Given the description of an element on the screen output the (x, y) to click on. 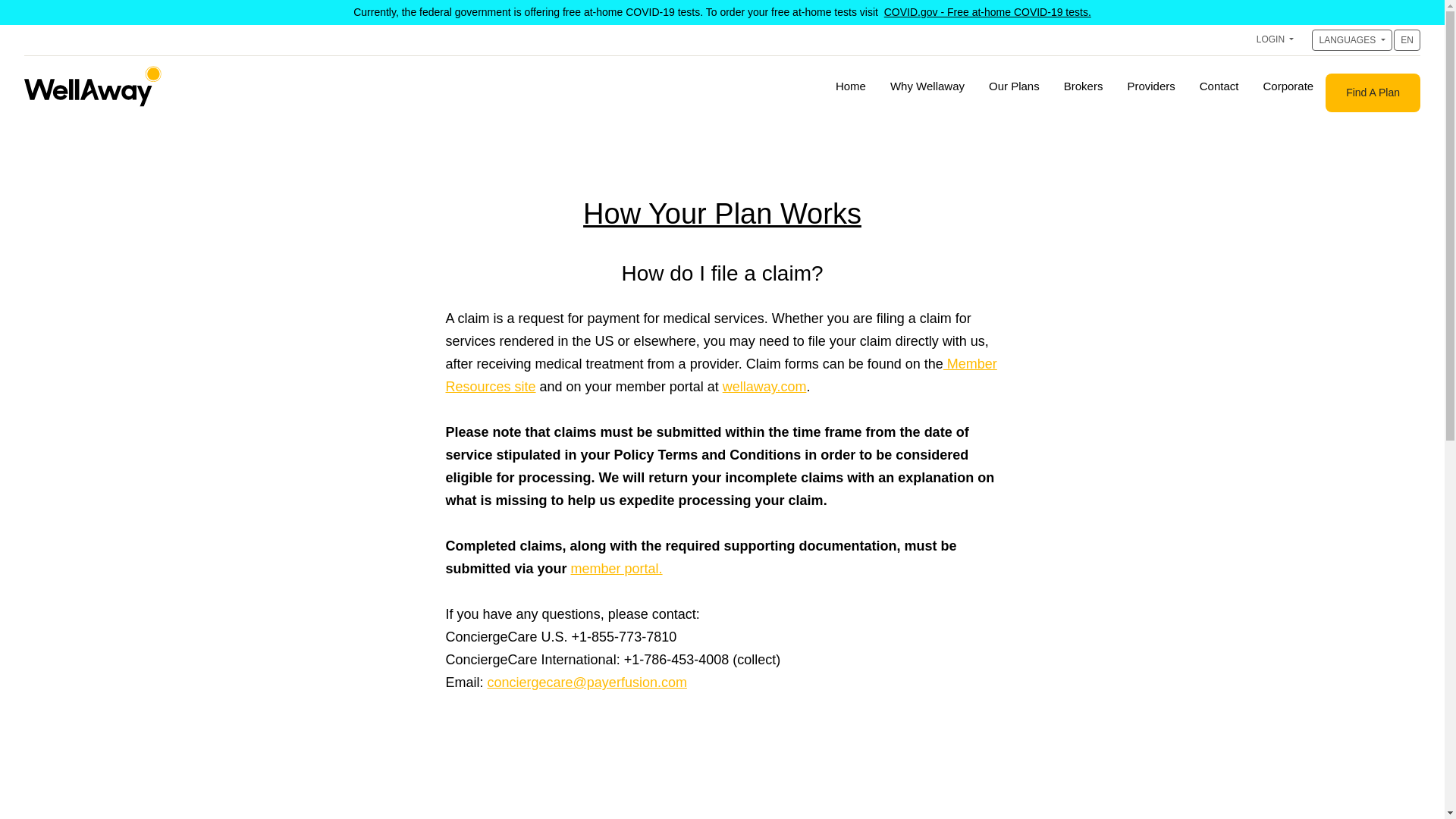
LOGIN (1275, 39)
Brokers (1083, 86)
Corporate (1287, 86)
Our Plans (1013, 86)
wellaway.com (764, 386)
Providers (1150, 86)
Contact (1219, 86)
member portal. (616, 568)
LANGUAGES (1351, 39)
Why Wellaway (926, 86)
Find A Plan (1372, 92)
EN (1407, 39)
COVID.gov - Free at-home COVID-19 tests. (986, 11)
How Your Plan Works (722, 214)
Home (850, 86)
